Given the description of an element on the screen output the (x, y) to click on. 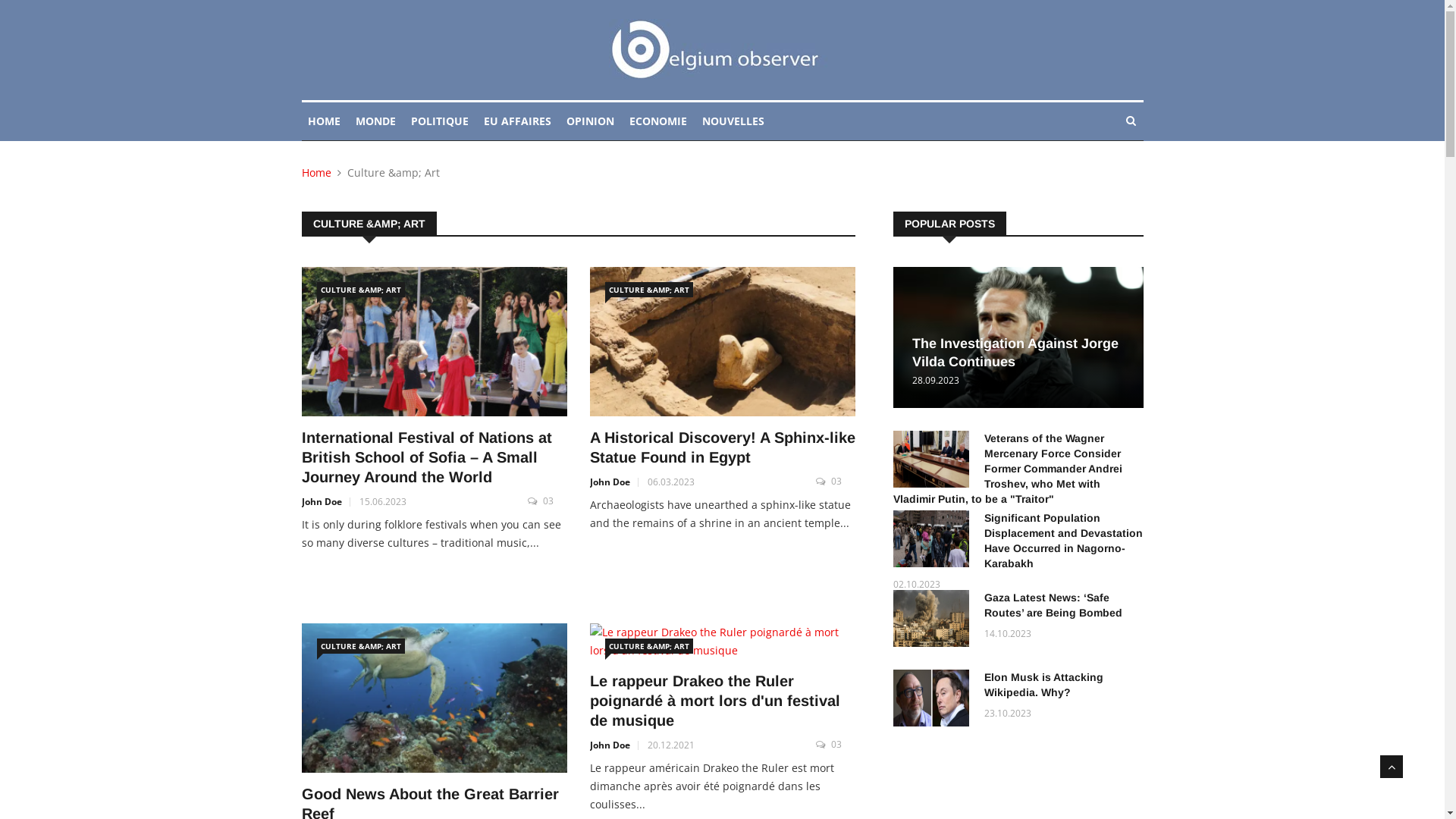
A Historical Discovery! A Sphinx-like Statue Found in Egypt Element type: text (722, 447)
The Investigation Against Jorge Vilda Continues Element type: hover (1018, 336)
NOUVELLES Element type: text (733, 121)
OPINION Element type: text (589, 121)
POLITIQUE Element type: text (439, 121)
CULTURE &AMP; ART Element type: text (649, 645)
Home Element type: text (316, 172)
The Investigation Against Jorge Vilda Continues Element type: text (1014, 352)
John Doe Element type: text (609, 744)
MONDE Element type: text (374, 121)
Good News About the Great Barrier Reef Element type: hover (434, 697)
Elon Musk is Attacking Wikipedia. Why? Element type: hover (931, 697)
Elon Musk is Attacking Wikipedia. Why? Element type: text (1043, 684)
CULTURE &AMP; ART Element type: text (360, 645)
03 Element type: text (843, 743)
03 Element type: text (843, 480)
EU AFFAIRES Element type: text (517, 121)
Back to Top Element type: hover (1391, 766)
A Historical Discovery! A Sphinx-like Statue Found in Egypt Element type: hover (722, 341)
CULTURE &AMP; ART Element type: text (649, 289)
ECONOMIE Element type: text (658, 121)
John Doe Element type: text (609, 481)
03 Element type: text (554, 500)
HOME Element type: text (323, 121)
CULTURE &AMP; ART Element type: text (360, 289)
John Doe Element type: text (321, 501)
